Given the description of an element on the screen output the (x, y) to click on. 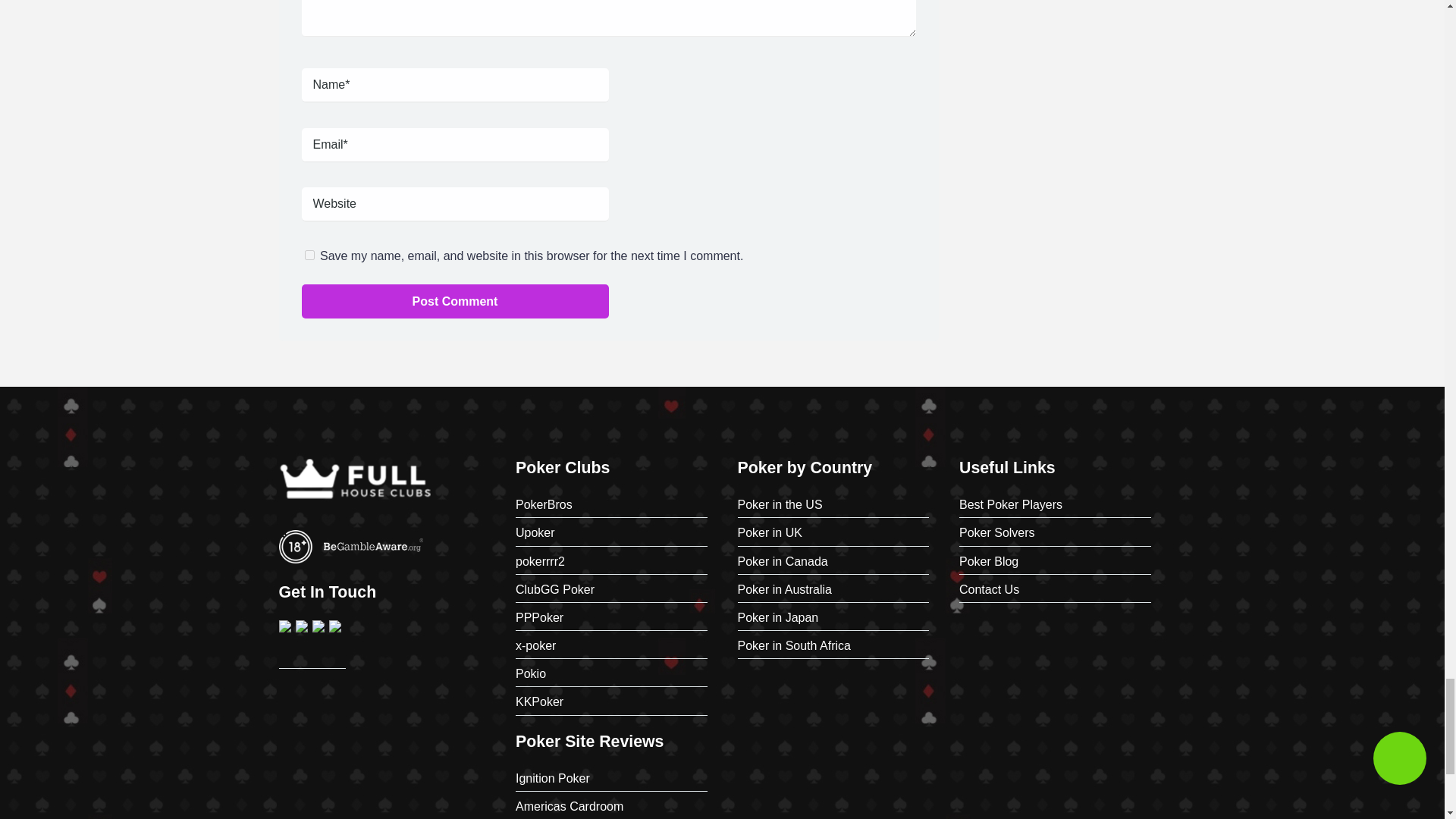
yes (309, 255)
Post Comment (454, 301)
